Given the description of an element on the screen output the (x, y) to click on. 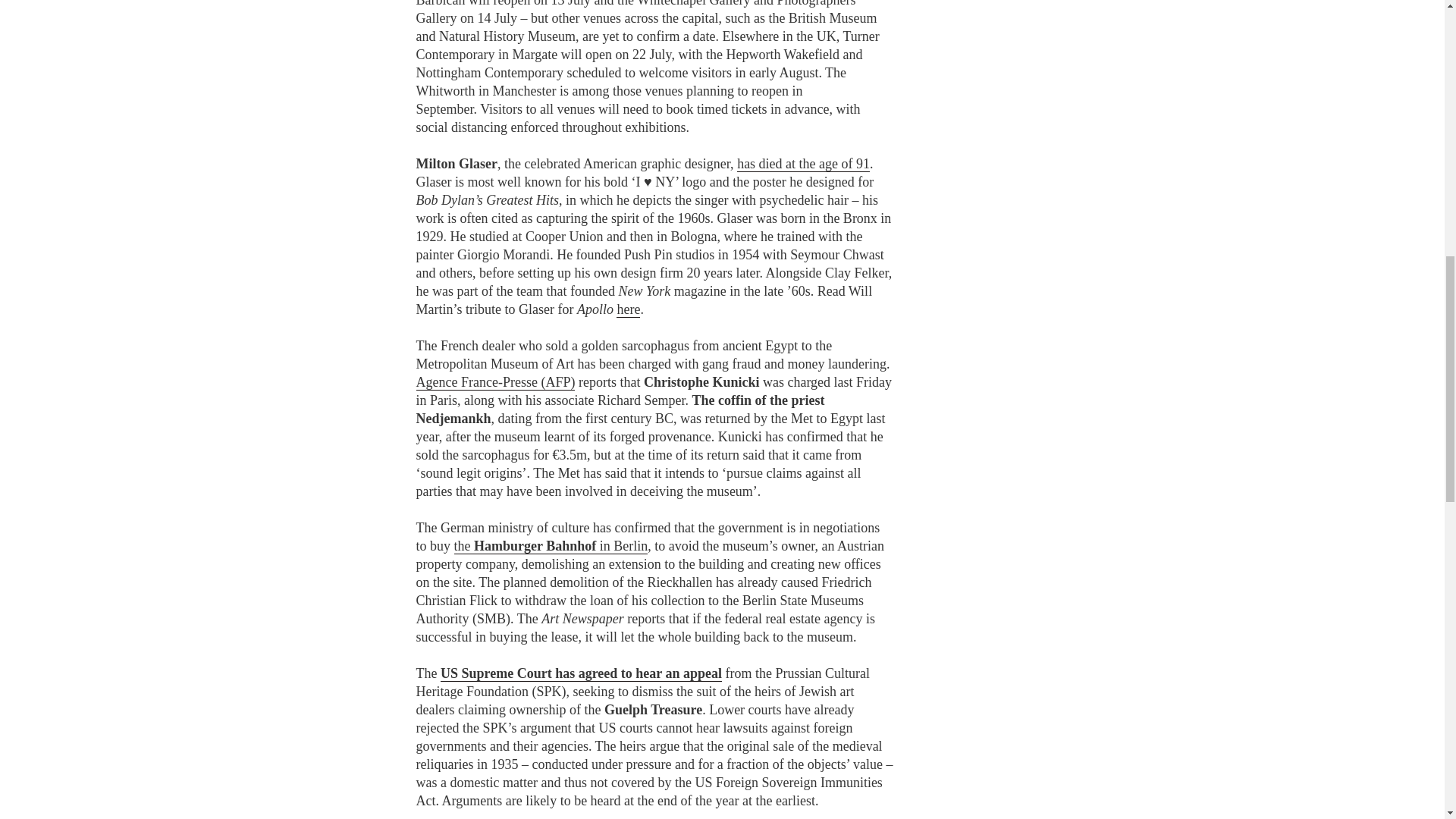
the Hamburger Bahnhof in Berlin (550, 546)
US Supreme Court has agreed to hear an appeal (581, 673)
has died at the age of 91 (802, 163)
here (627, 309)
